Given the description of an element on the screen output the (x, y) to click on. 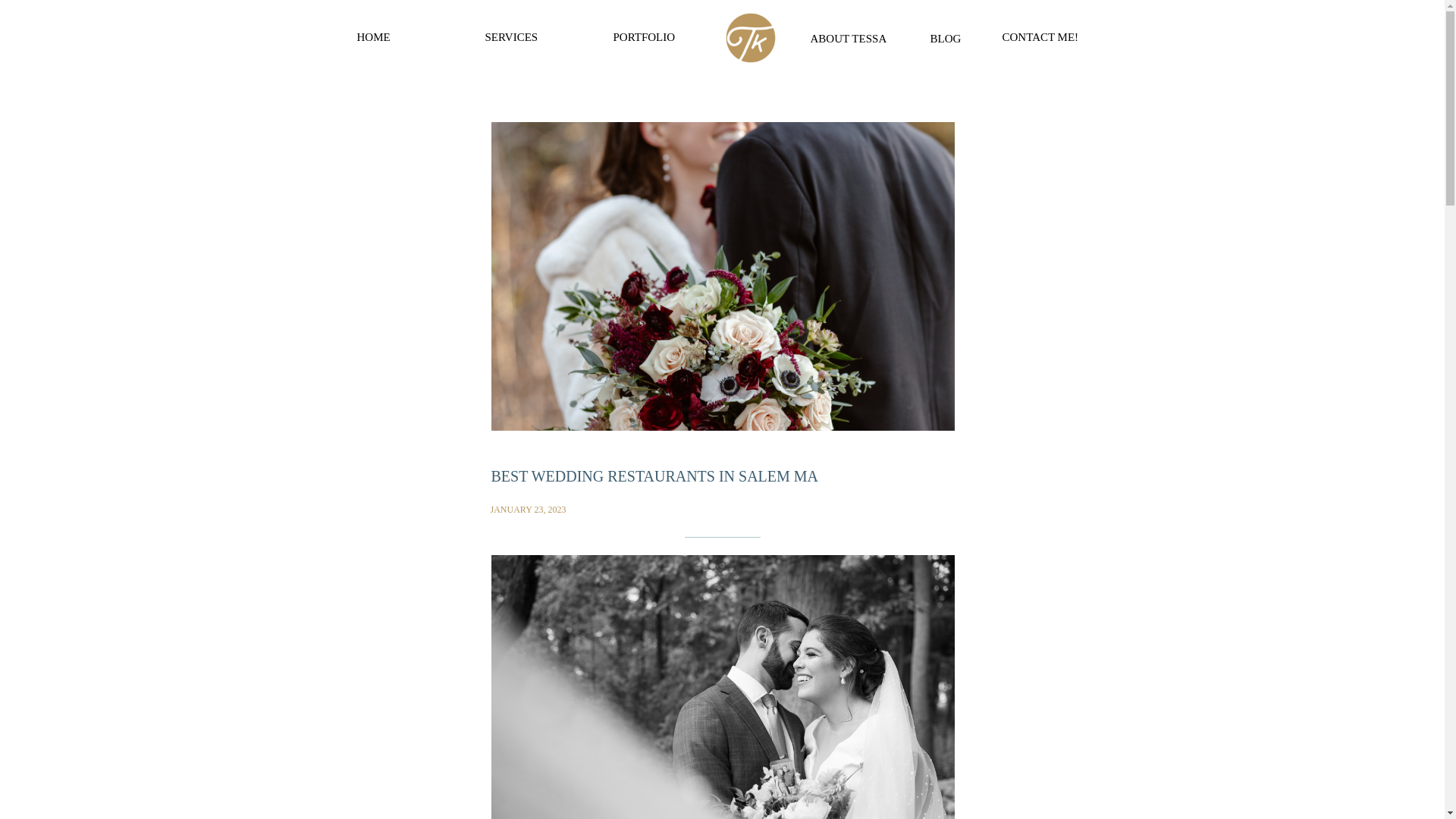
BLOG (949, 37)
SERVICES (531, 37)
CONTACT ME! (1046, 36)
ABOUT TESSA (852, 37)
PORTFOLIO (651, 37)
HOME (403, 37)
